Given the description of an element on the screen output the (x, y) to click on. 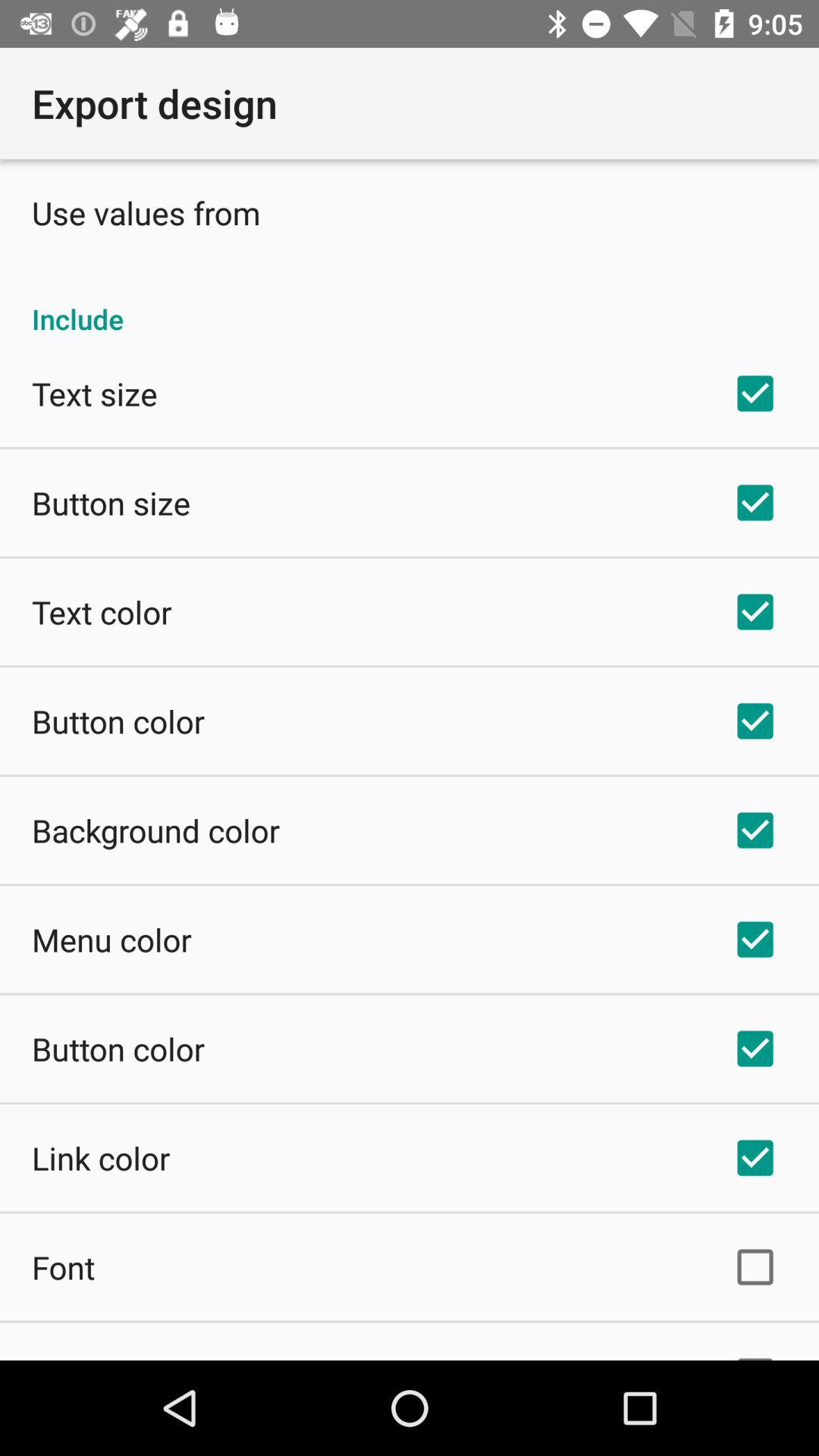
turn off the menu color item (111, 939)
